Given the description of an element on the screen output the (x, y) to click on. 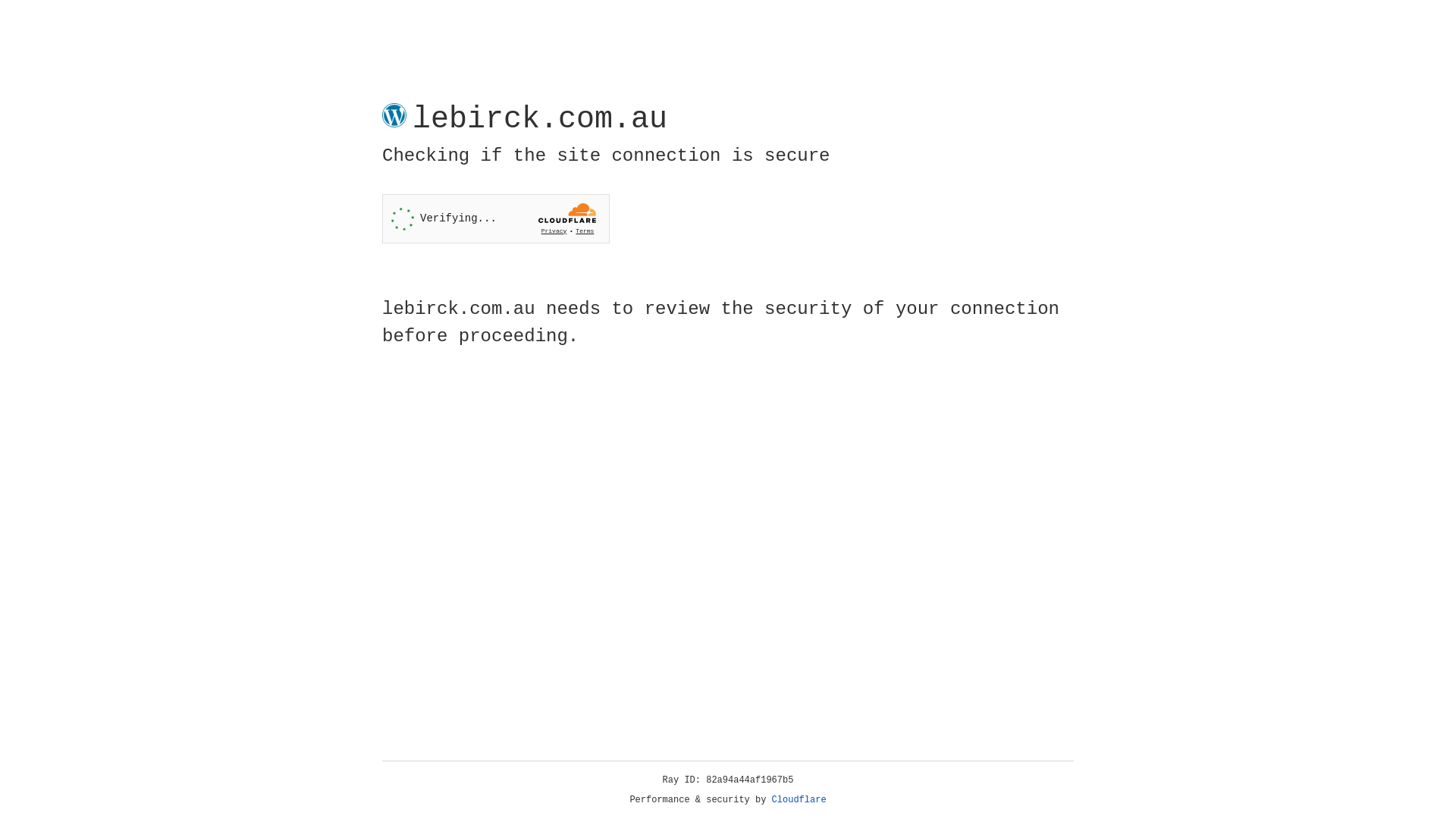
Widget containing a Cloudflare security challenge Element type: hover (495, 218)
Cloudflare Element type: text (798, 799)
